Given the description of an element on the screen output the (x, y) to click on. 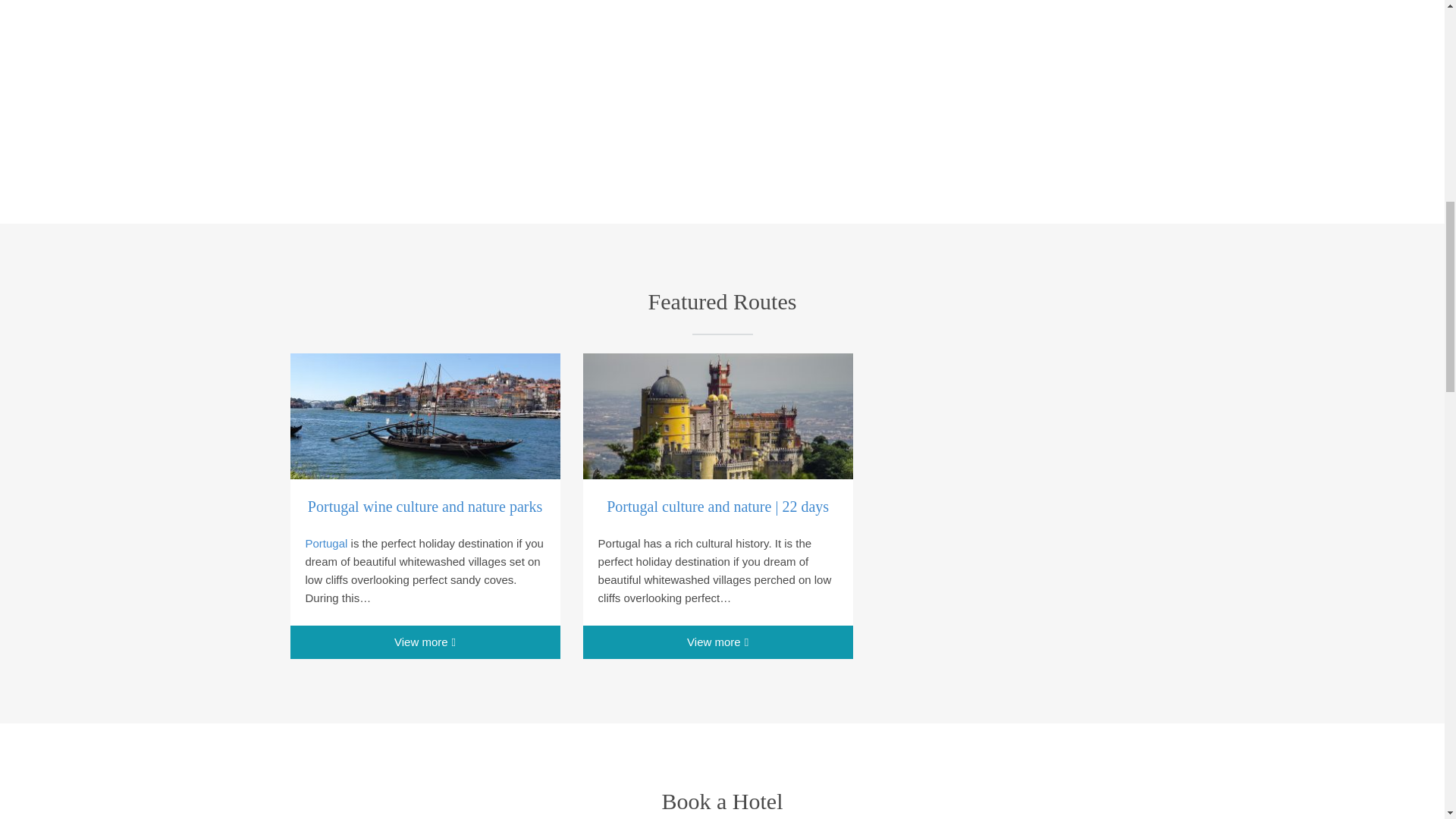
Portugal wine culture and nature parks (424, 506)
Portugal (325, 543)
View more (424, 642)
